Given the description of an element on the screen output the (x, y) to click on. 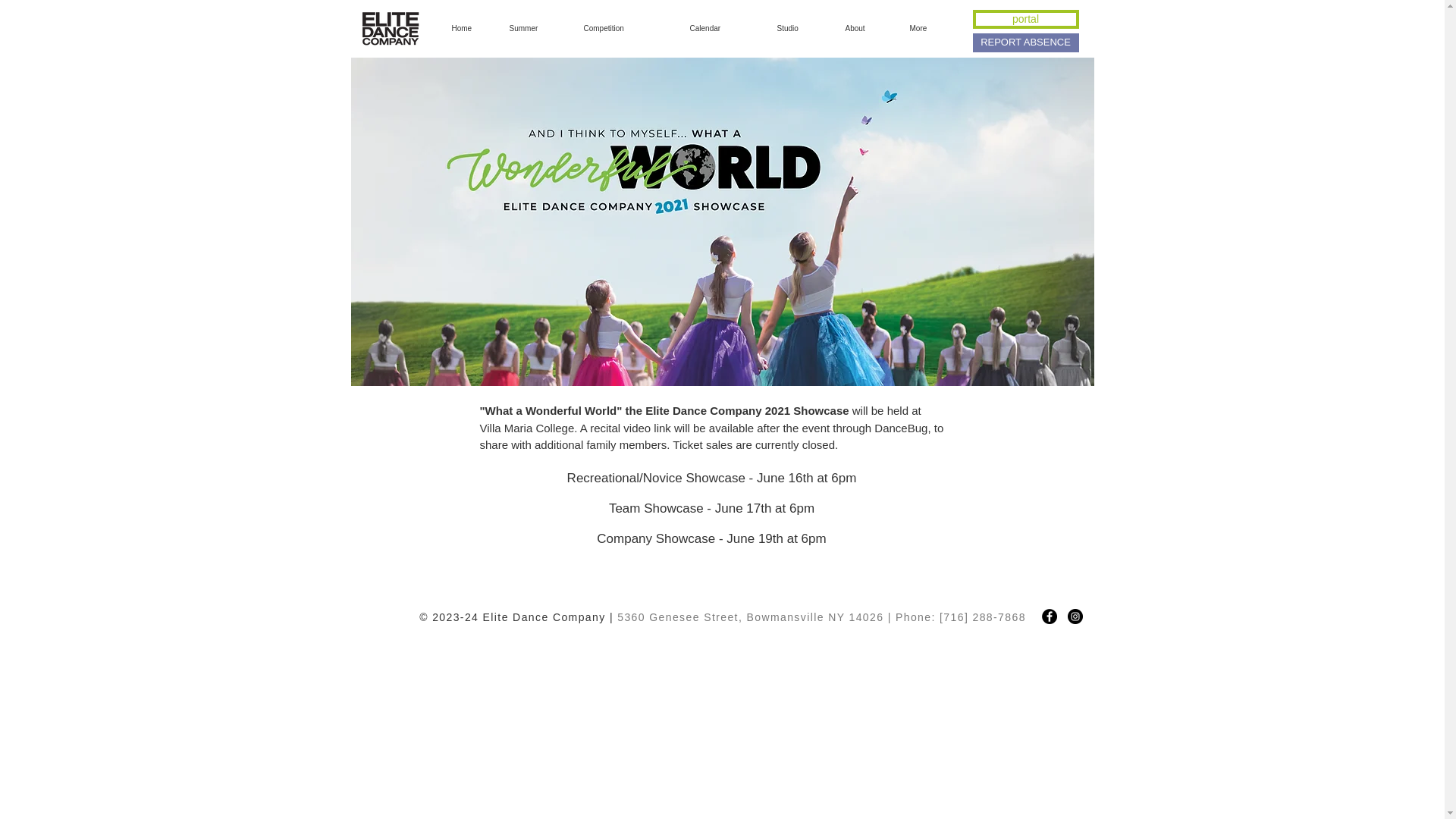
REPORT ABSENCE (1025, 42)
Home (468, 28)
Competition (625, 28)
Summer (534, 28)
About (866, 28)
portal (1025, 18)
Calendar (721, 28)
Studio (799, 28)
